Given the description of an element on the screen output the (x, y) to click on. 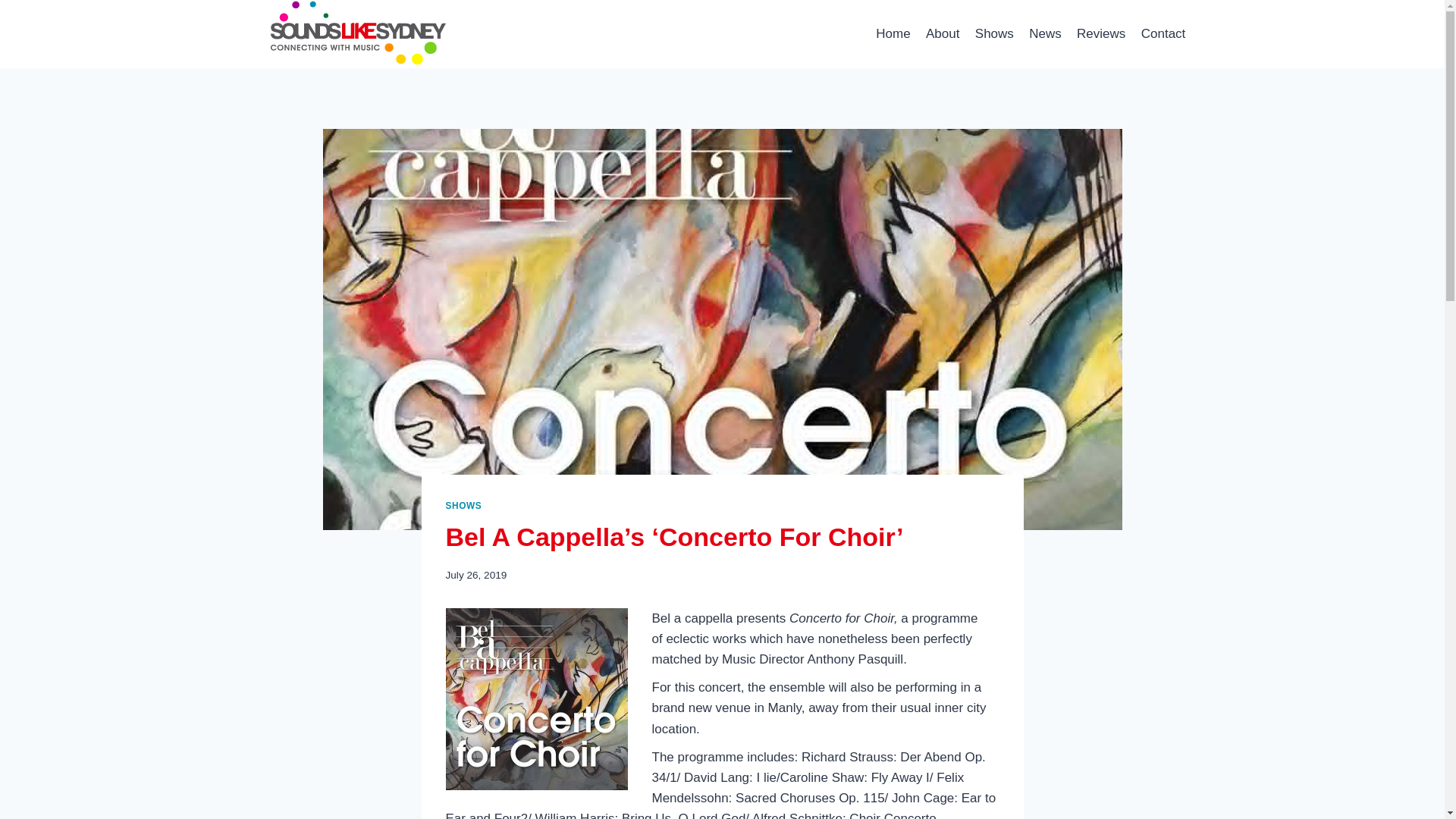
About (943, 33)
News (1045, 33)
Shows (995, 33)
Contact (1163, 33)
Reviews (1101, 33)
Home (892, 33)
SHOWS (463, 505)
